Given the description of an element on the screen output the (x, y) to click on. 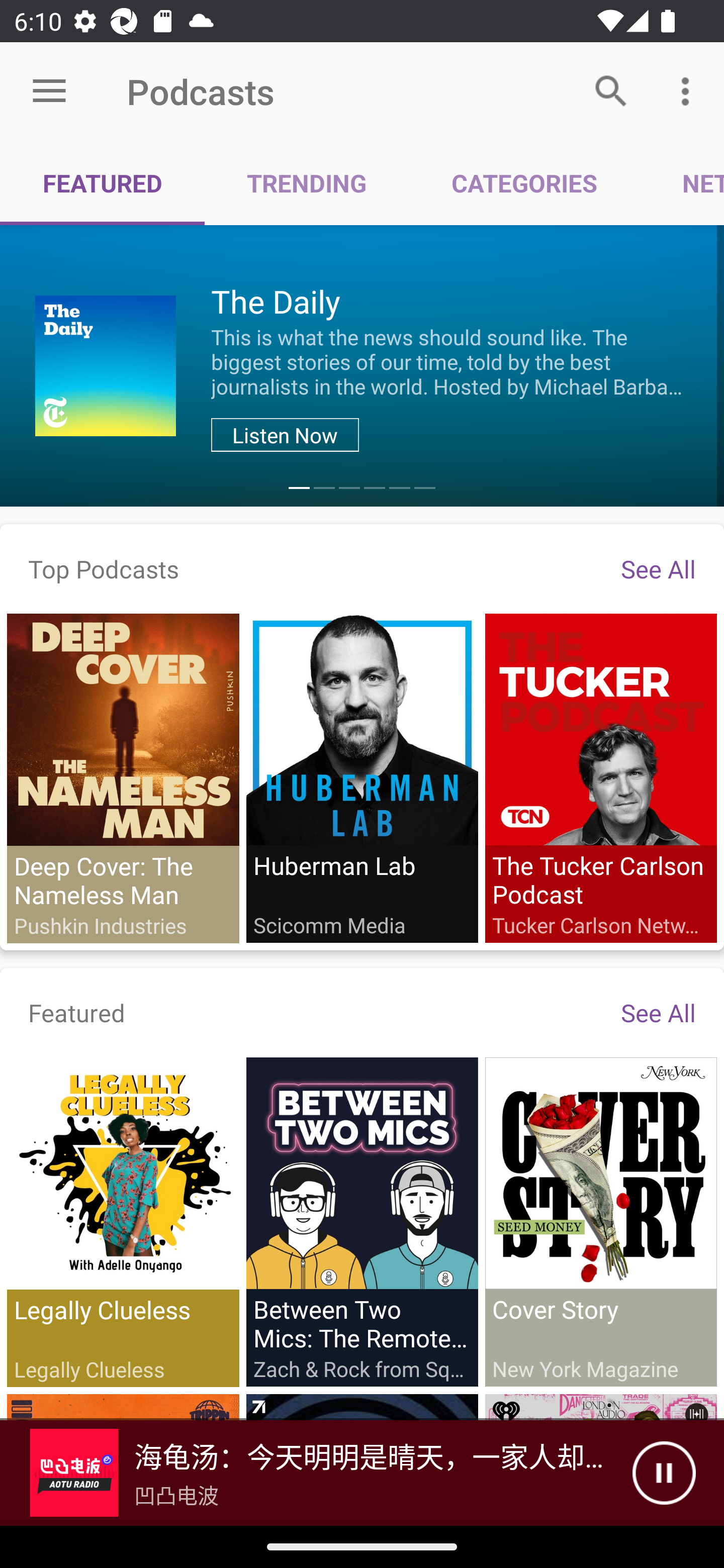
Open menu (49, 91)
Search (611, 90)
More options (688, 90)
FEATURED (102, 183)
TRENDING (306, 183)
CATEGORIES (524, 183)
Top Podcasts (103, 567)
See All (658, 567)
Deep Cover: The Nameless Man Pushkin Industries (123, 778)
Huberman Lab Scicomm Media (361, 777)
The Tucker Carlson Podcast Tucker Carlson Network (600, 777)
Featured (76, 1011)
See All (658, 1011)
Legally Clueless (123, 1221)
Cover Story New York Magazine (600, 1221)
Picture 海龟汤：今天明明是晴天，一家人却都穿上了雨衣 凹凸电波 (316, 1472)
Pause (663, 1472)
